Given the description of an element on the screen output the (x, y) to click on. 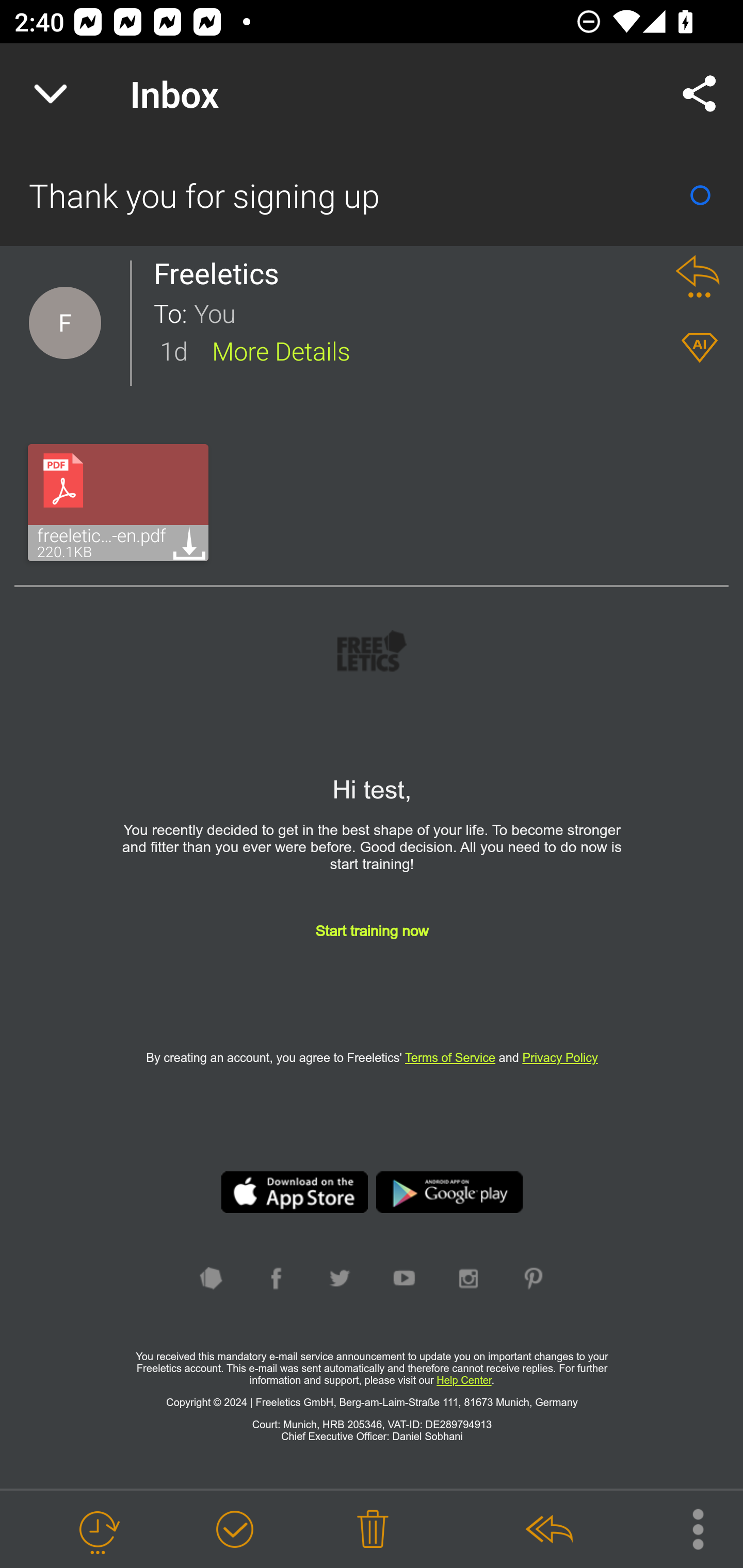
Navigate up (50, 93)
Share (699, 93)
Mark as Read (699, 194)
Freeletics (221, 273)
Contact Details (64, 322)
More Details (280, 349)
Tap to download freeletics-terms-en.pdf 220.1KB (118, 502)
Start training now (372, 946)
Terms of Service (450, 1057)
Privacy Policy (560, 1057)
Download on App Store (294, 1192)
Download on Google Play (449, 1192)
Help Center (463, 1380)
More Options (687, 1528)
Snooze (97, 1529)
Mark as Done (234, 1529)
Delete (372, 1529)
Reply All (548, 1529)
